Given the description of an element on the screen output the (x, y) to click on. 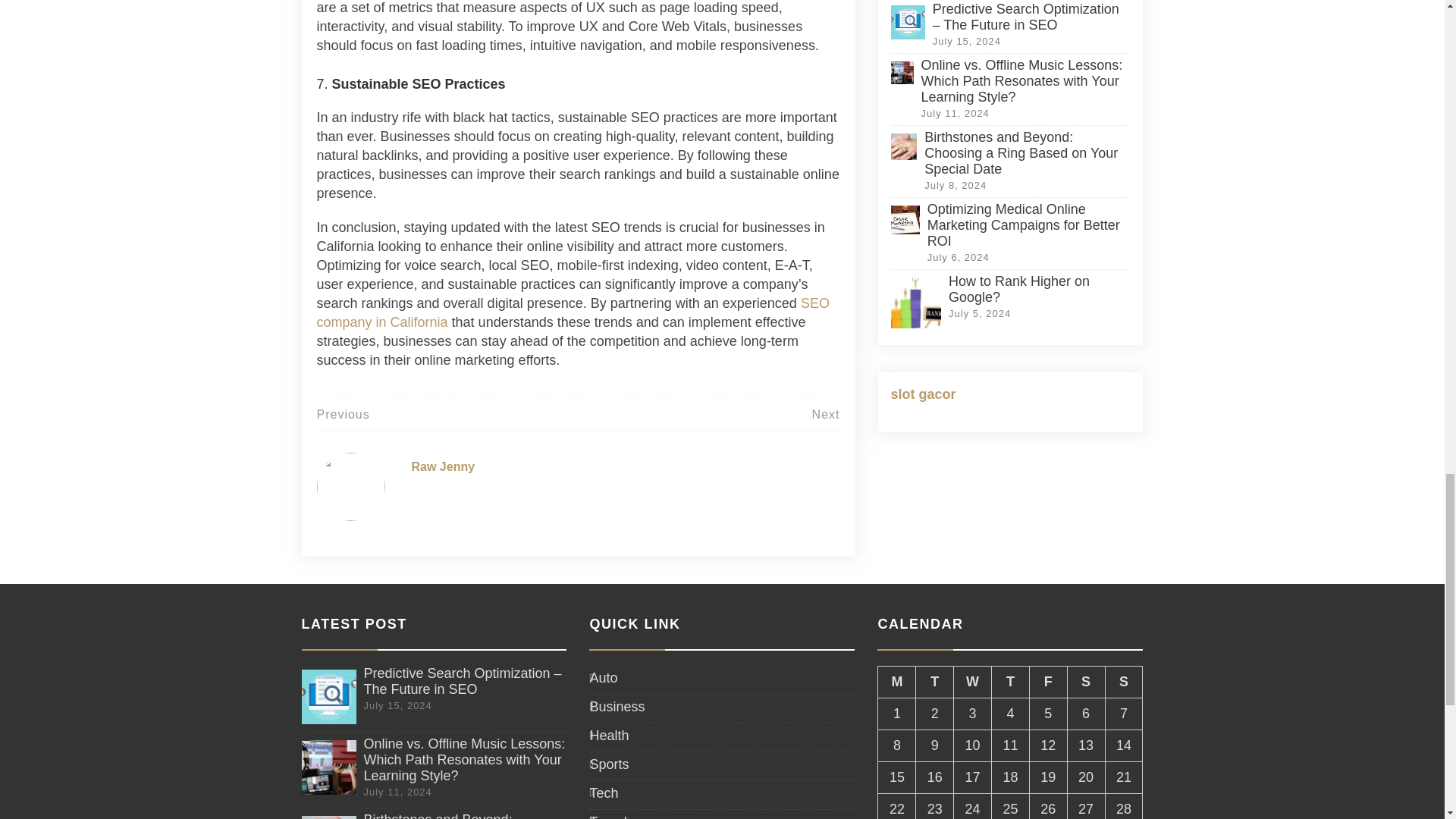
Previous (343, 413)
Sunday (1123, 681)
Raw Jenny (442, 466)
Posts by Raw Jenny (442, 466)
Saturday (1086, 681)
Tuesday (934, 681)
SEO company in California (573, 312)
Thursday (1010, 681)
Wednesday (972, 681)
Friday (1048, 681)
Monday (896, 681)
Next (826, 413)
